Given the description of an element on the screen output the (x, y) to click on. 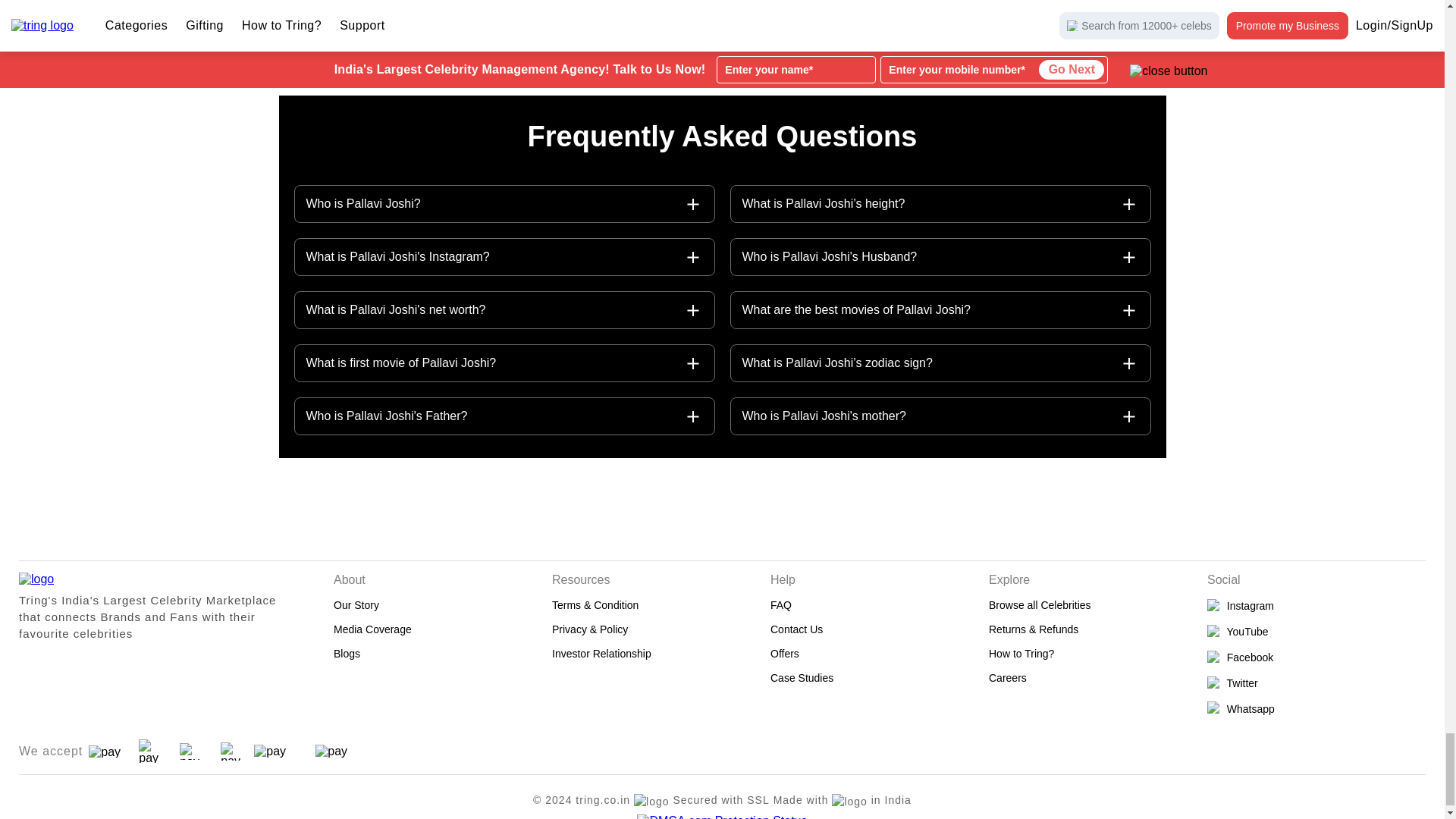
Twitter (1316, 683)
DMCA.com Protection Status (721, 816)
Youtube (1316, 631)
WhatsApp (1316, 708)
